Given the description of an element on the screen output the (x, y) to click on. 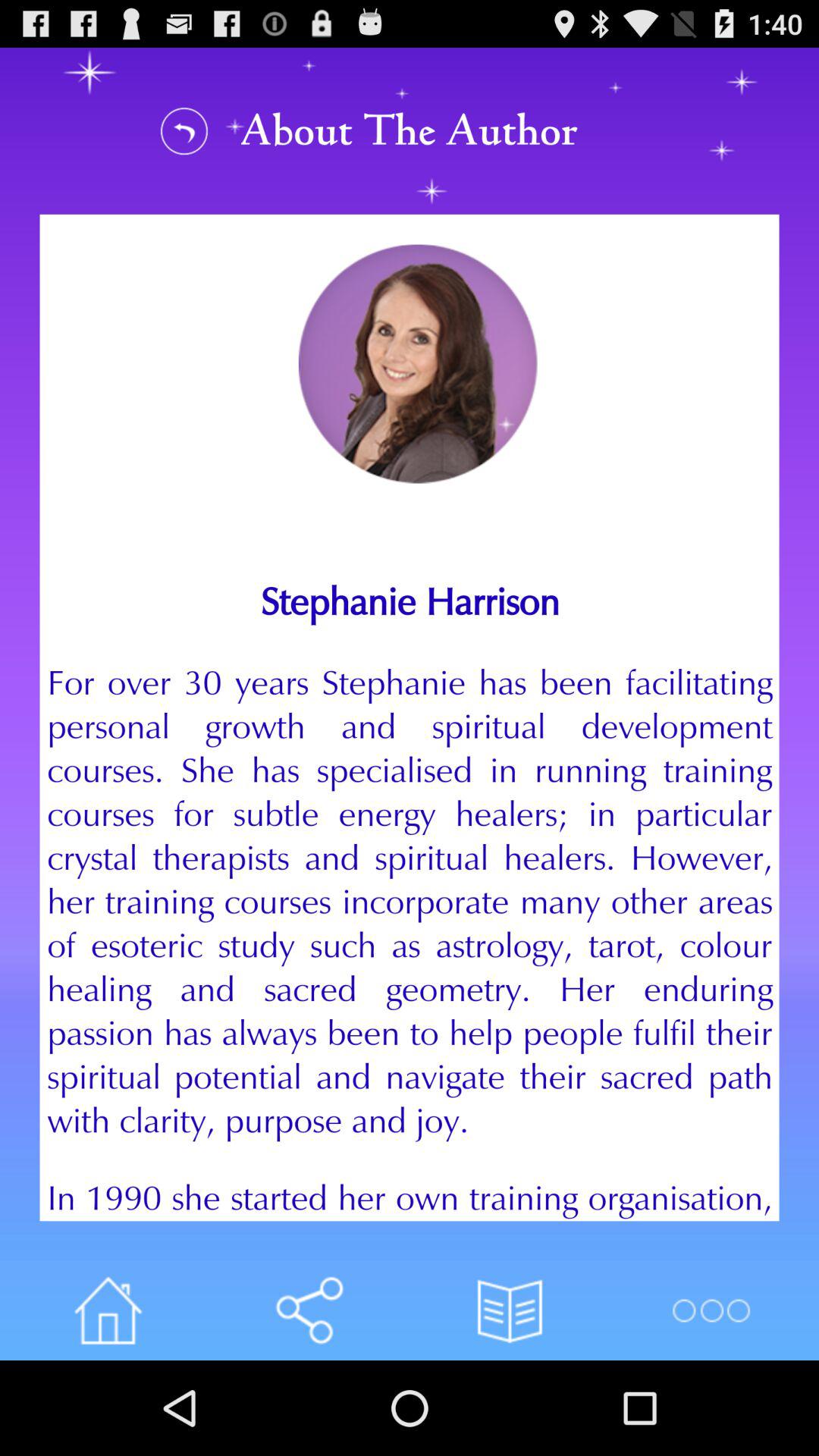
apps (107, 1310)
